Given the description of an element on the screen output the (x, y) to click on. 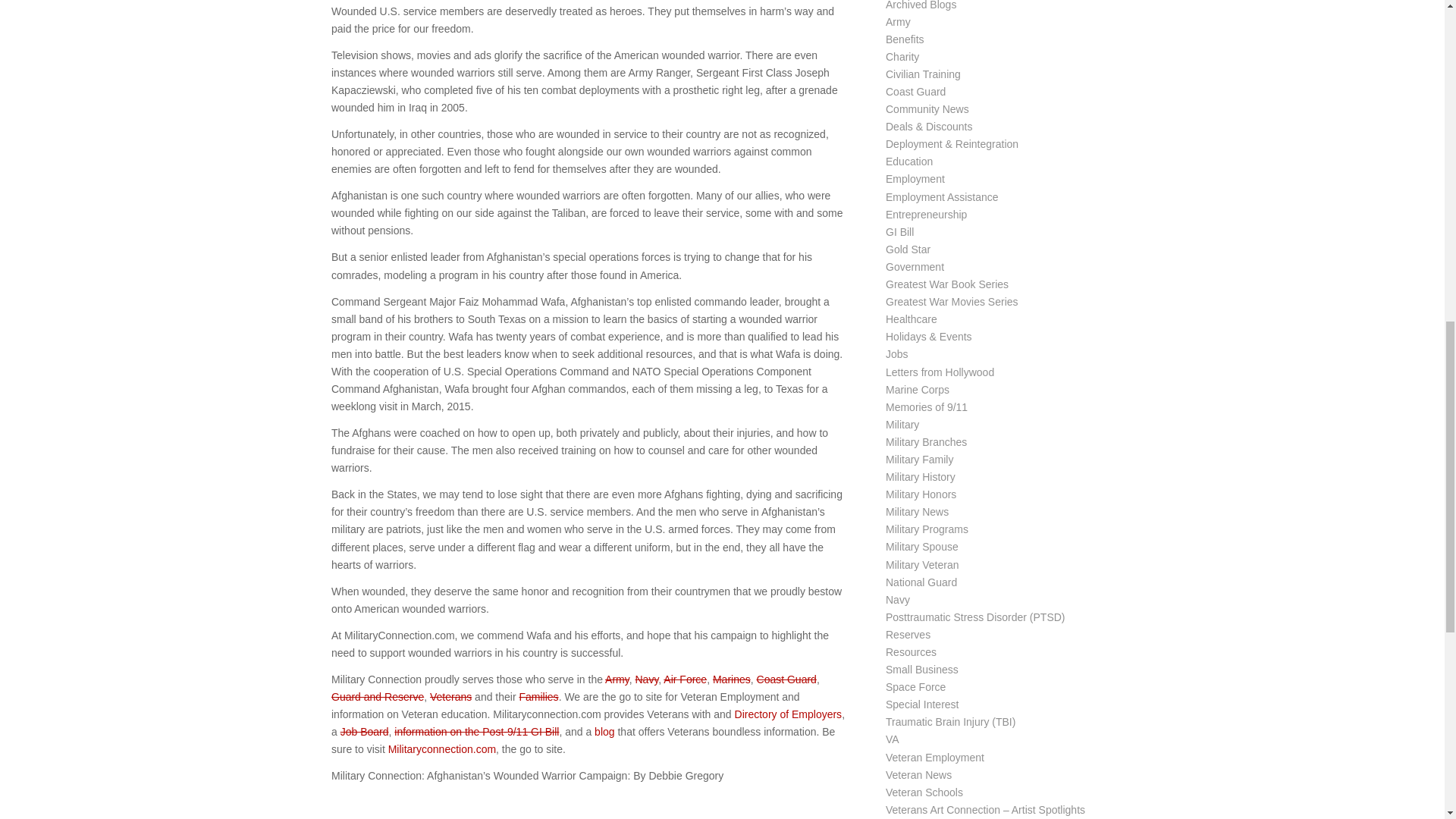
Air Force (684, 679)
Army (616, 679)
Directory of Employers (789, 714)
Marines (732, 679)
Families (537, 696)
Job Board (364, 731)
Guard and Reserve (377, 696)
Coast Guard (786, 679)
Veterans (450, 696)
Militaryconnection.com (442, 748)
Archived Blogs (920, 5)
Navy (646, 679)
blog (604, 731)
